Given the description of an element on the screen output the (x, y) to click on. 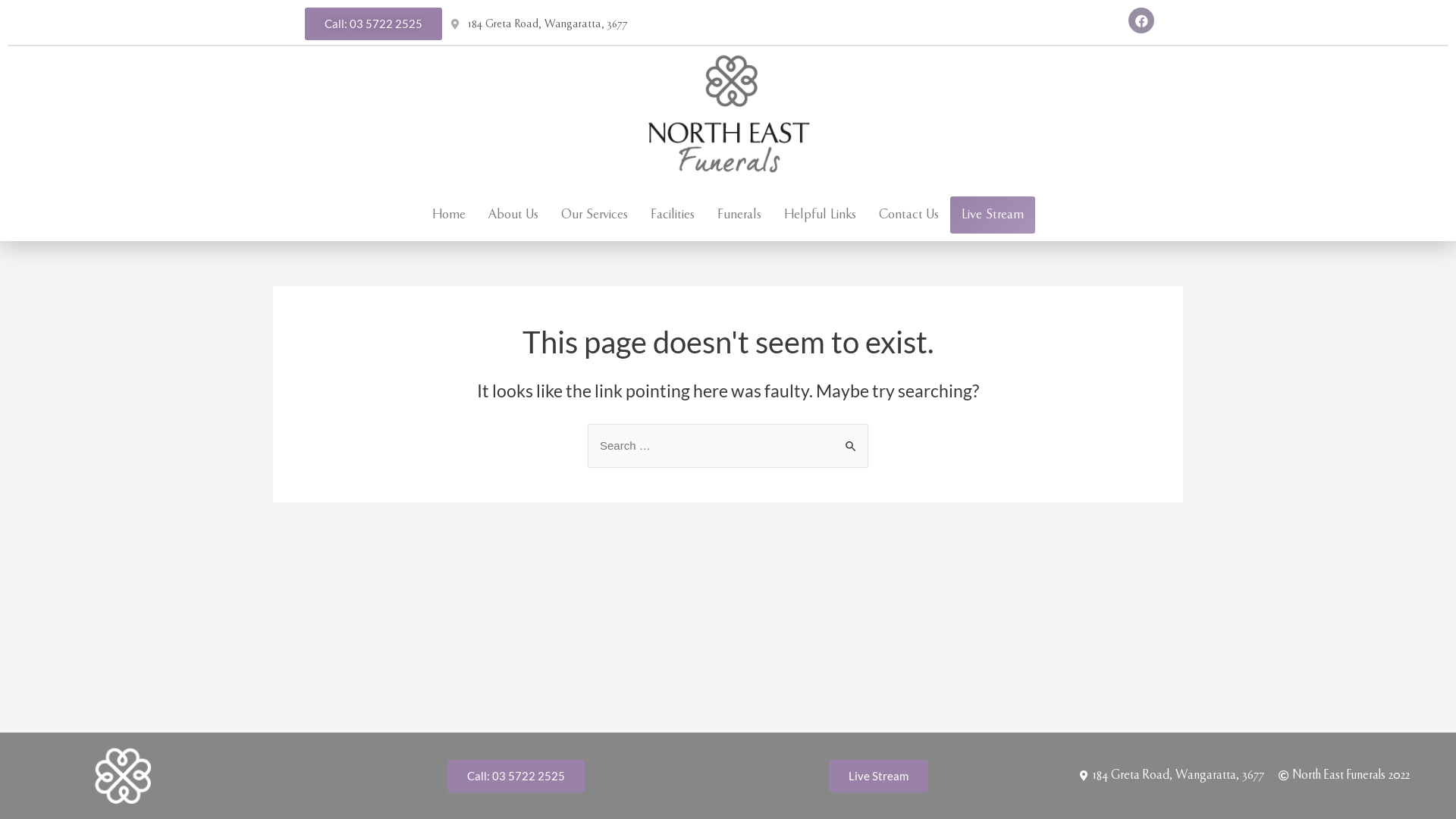
Call: 03 5722 2525 Element type: text (515, 775)
Our Services Element type: text (594, 214)
Live Stream Element type: text (1053, 202)
Contact Us Element type: text (969, 202)
Funerals Element type: text (739, 214)
184 Greta Road, Wangaratta, 3677 Element type: text (539, 24)
Home Element type: text (448, 214)
Helpful Links Element type: text (881, 202)
Facilities Element type: text (733, 202)
Search Element type: text (851, 439)
Our Services Element type: text (655, 202)
Live Stream Element type: text (878, 775)
Home Element type: text (510, 202)
About Us Element type: text (512, 214)
Helpful Links Element type: text (819, 214)
Contact Us Element type: text (908, 214)
Live Stream Element type: text (992, 214)
Call: 03 5722 2525 Element type: text (373, 23)
Funerals Element type: text (800, 202)
Facilities Element type: text (672, 214)
Facebook Element type: text (1141, 20)
About Us Element type: text (574, 202)
